Given the description of an element on the screen output the (x, y) to click on. 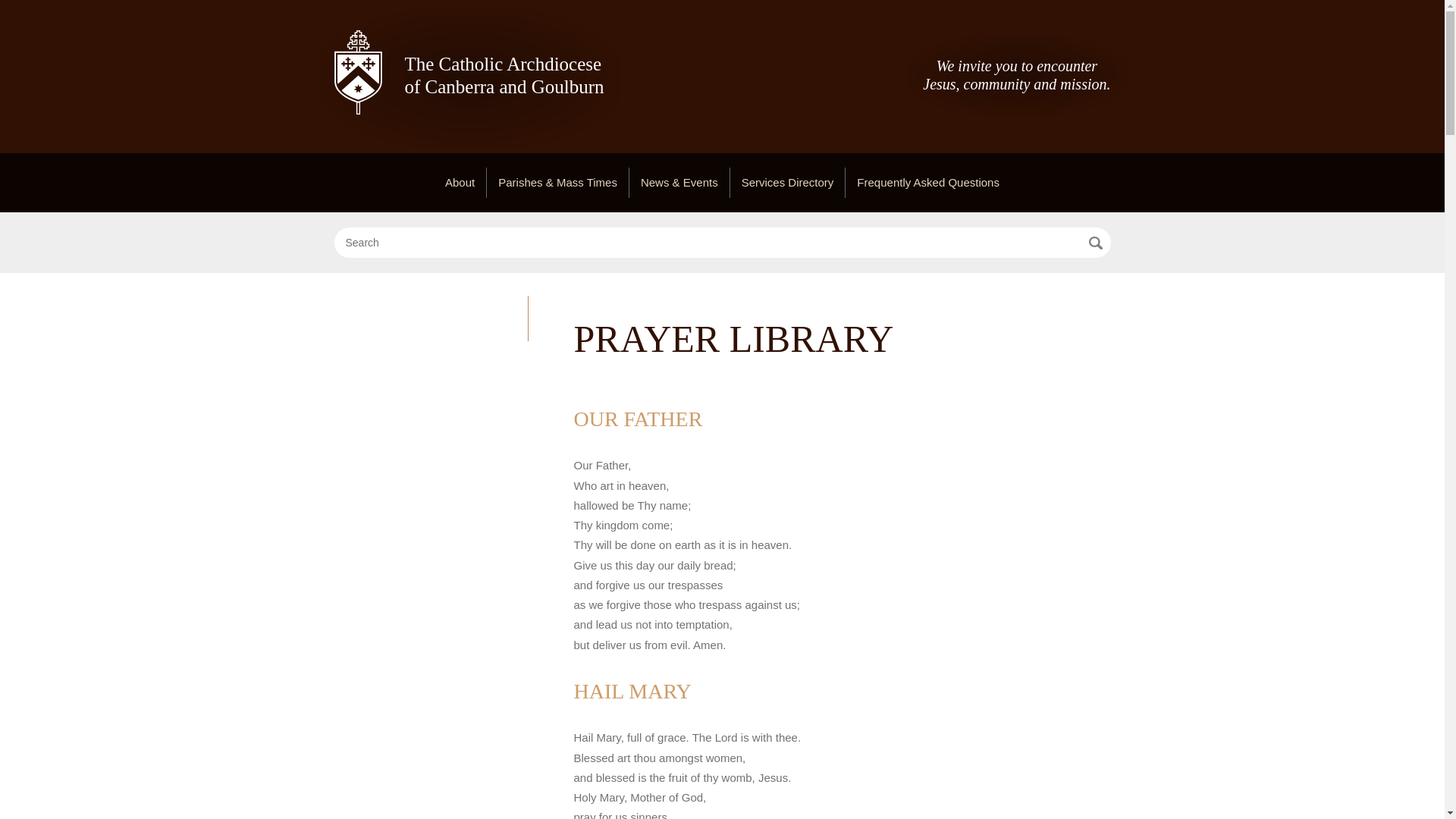
submit Element type: text (1094, 242)
site search Element type: hover (706, 242)
submit Element type: hover (1094, 242)
 The Catholic Archdiocese
of Canberra and Goulburn Element type: text (468, 77)
